Given the description of an element on the screen output the (x, y) to click on. 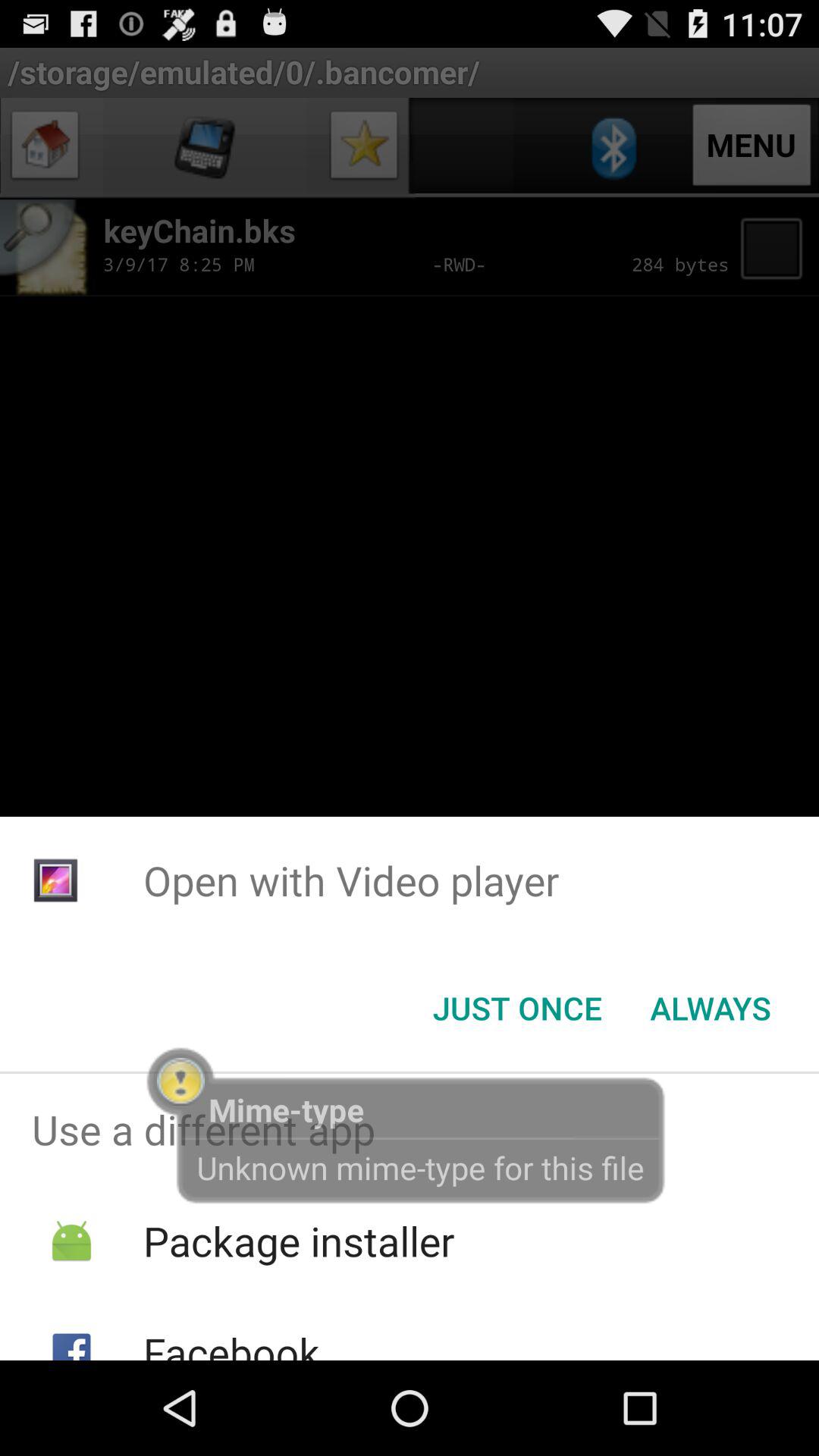
open item next to the always button (517, 1007)
